Given the description of an element on the screen output the (x, y) to click on. 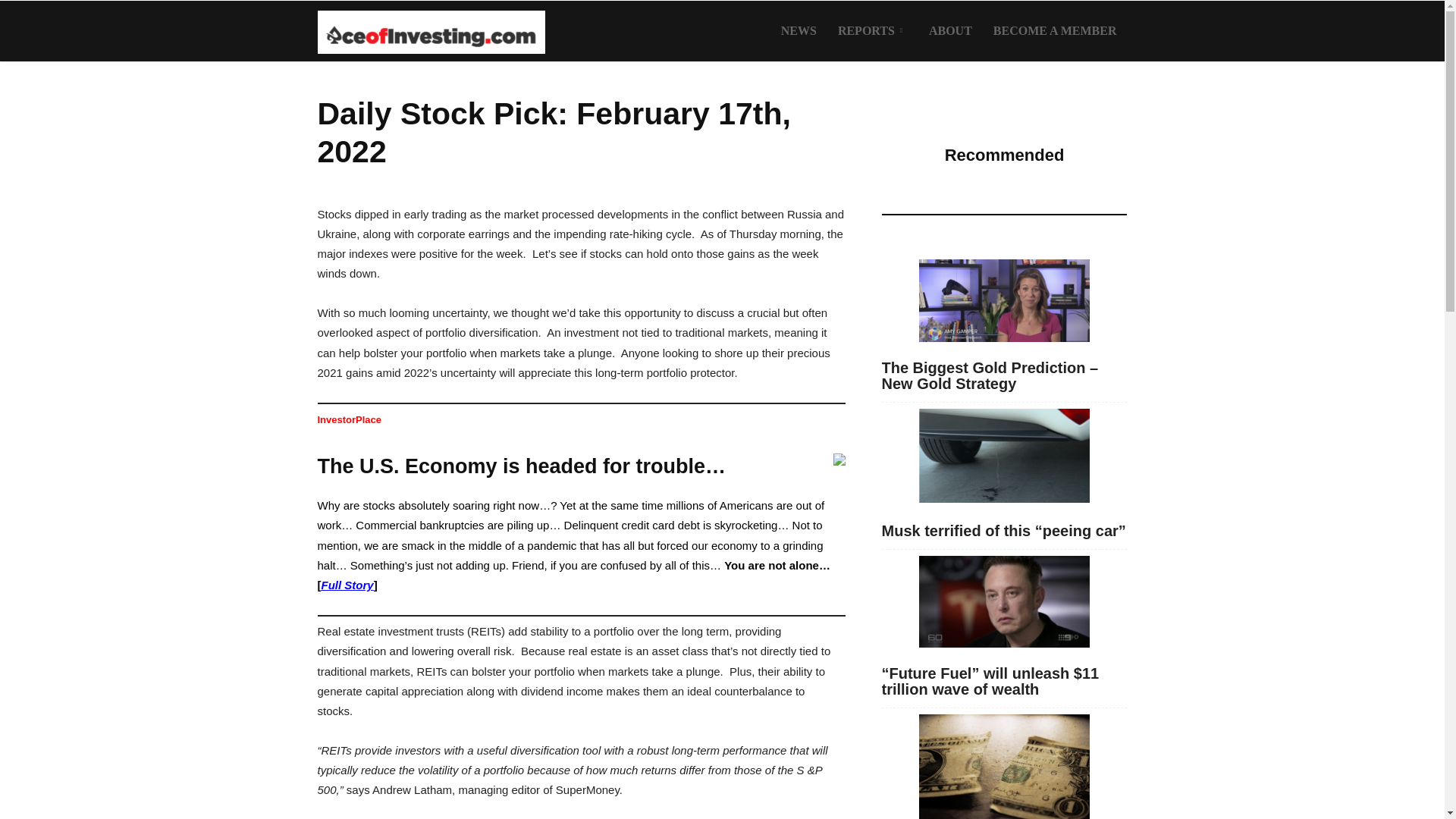
REPORTS (872, 30)
BECOME A MEMBER (1054, 30)
ABOUT (950, 30)
Ace of Investing (430, 30)
NEWS (798, 30)
